Given the description of an element on the screen output the (x, y) to click on. 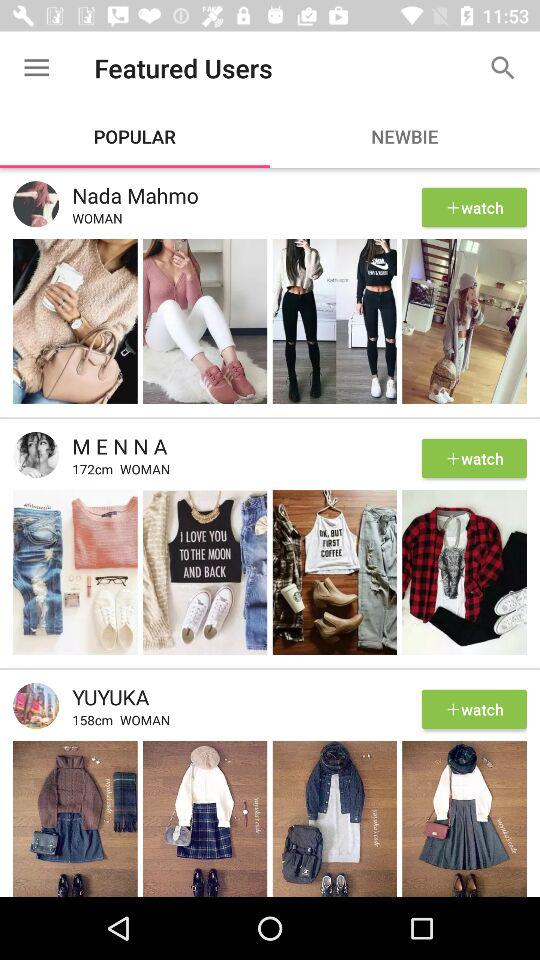
press the item to the right of featured users item (503, 67)
